Given the description of an element on the screen output the (x, y) to click on. 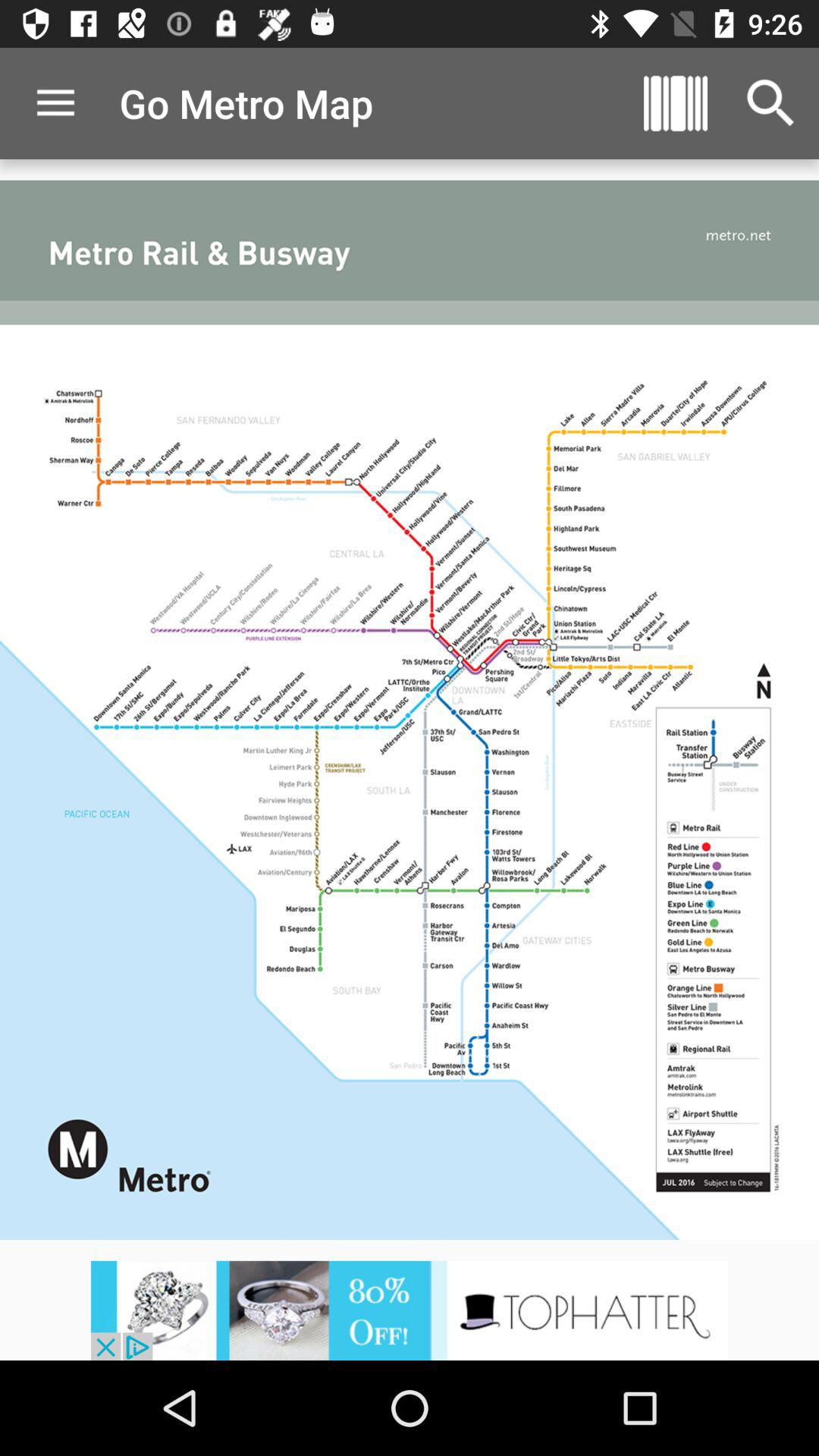
go to advertisements button (409, 1310)
